Given the description of an element on the screen output the (x, y) to click on. 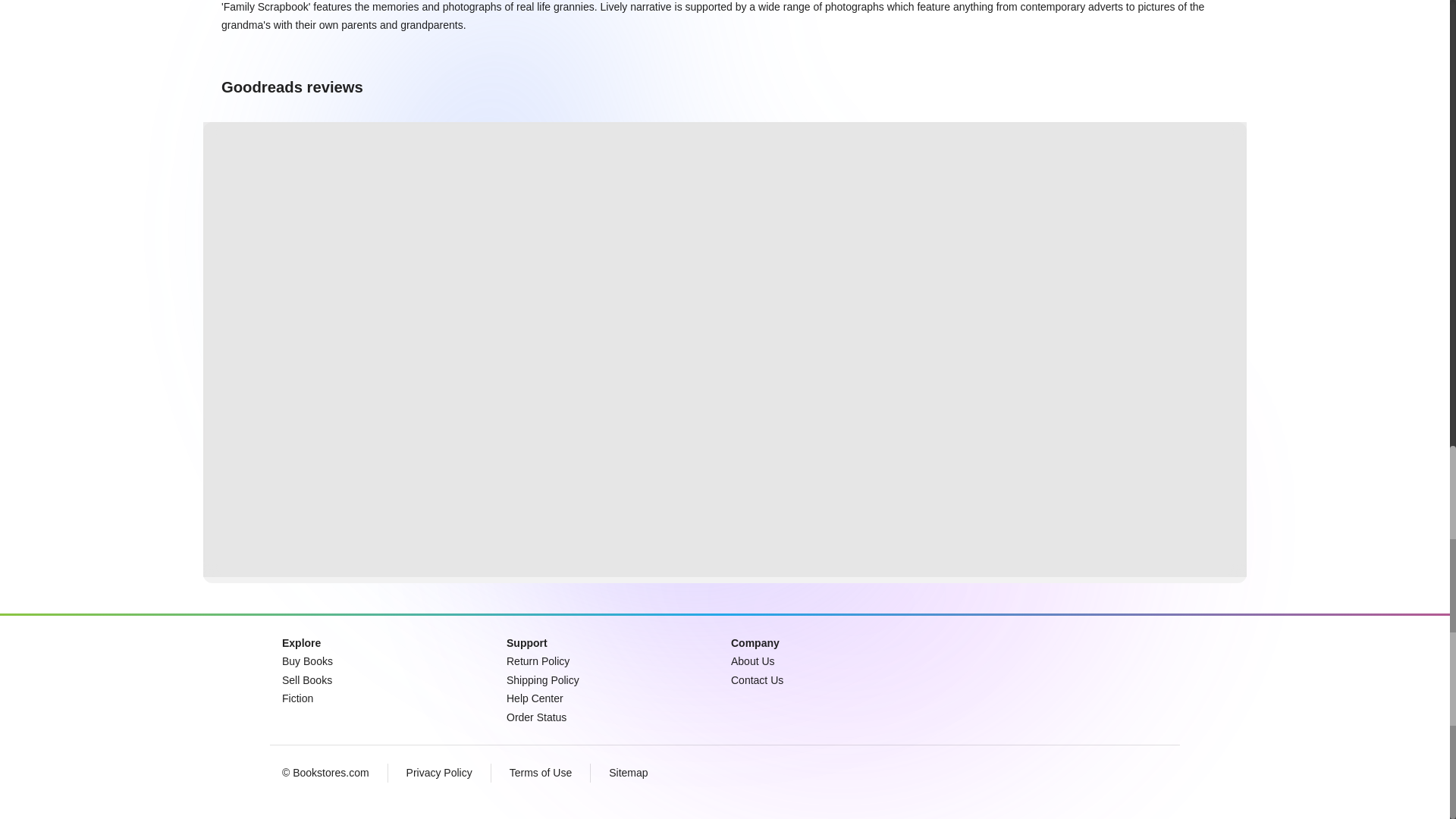
Help Center (534, 698)
Order Status (536, 717)
Return Policy (537, 661)
About Us (752, 661)
Terms of Use (540, 772)
Shipping Policy (542, 680)
Sell Books (306, 680)
Sitemap (627, 772)
Buy Books (307, 661)
Privacy Policy (438, 772)
Contact Us (756, 680)
Fiction (297, 698)
